Given the description of an element on the screen output the (x, y) to click on. 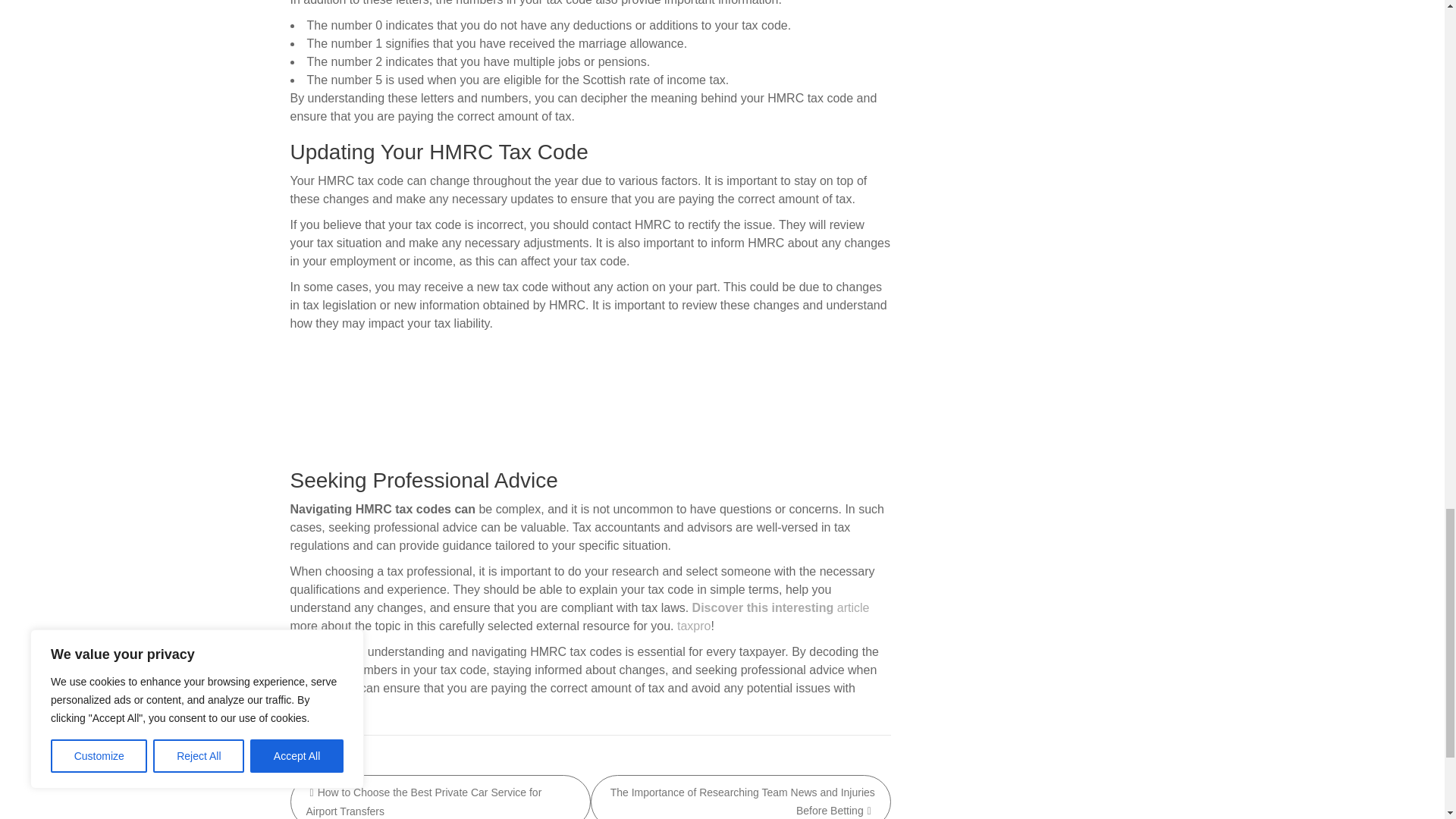
taxpro (693, 625)
Discover this interesting article (781, 607)
